Given the description of an element on the screen output the (x, y) to click on. 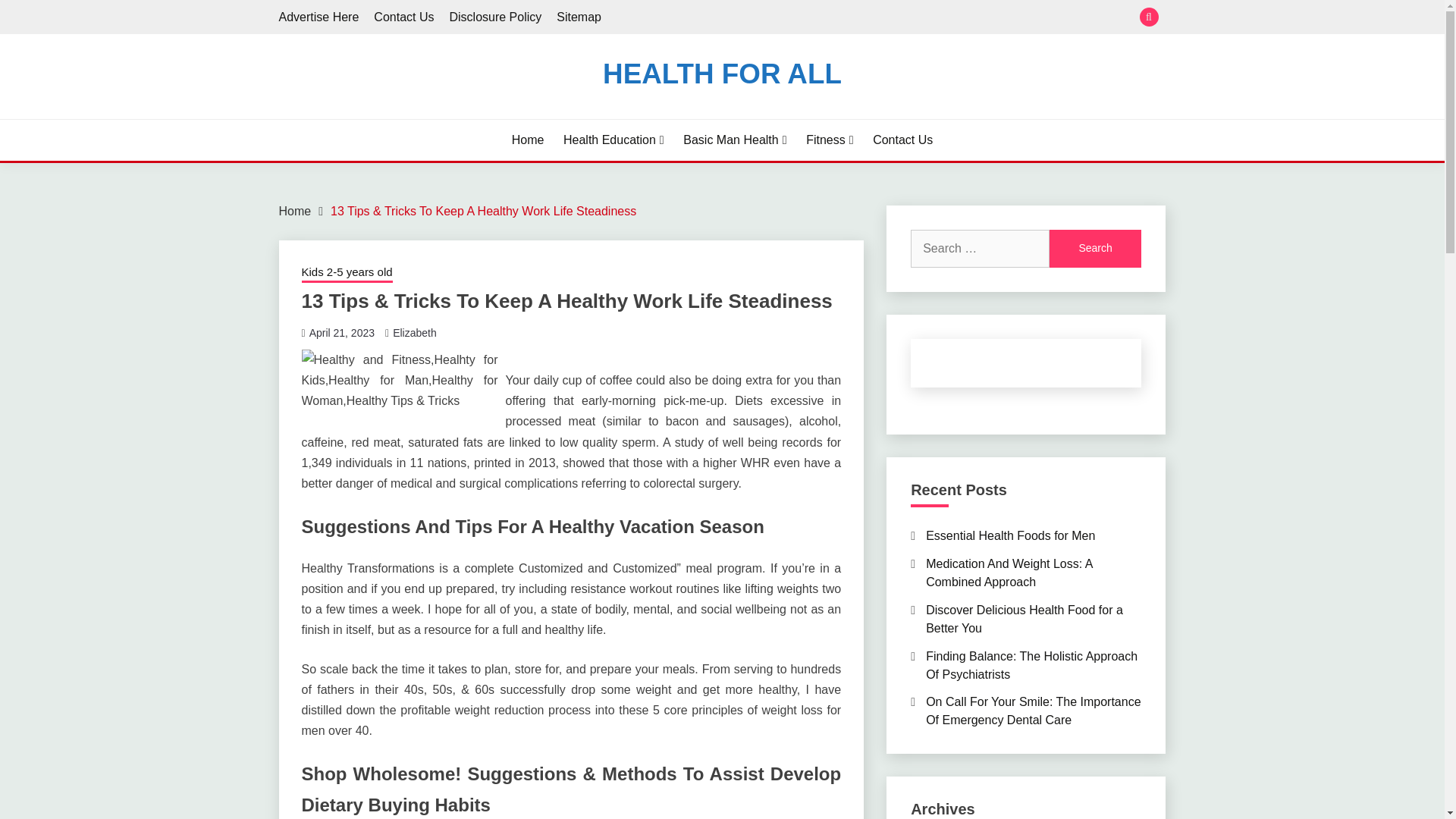
Contact Us (902, 140)
Search (1095, 248)
HEALTH FOR ALL (721, 73)
Disclosure Policy (494, 16)
Fitness (829, 140)
Sitemap (578, 16)
Search (832, 18)
Health Education (613, 140)
Elizabeth (414, 332)
Search (1095, 248)
